Given the description of an element on the screen output the (x, y) to click on. 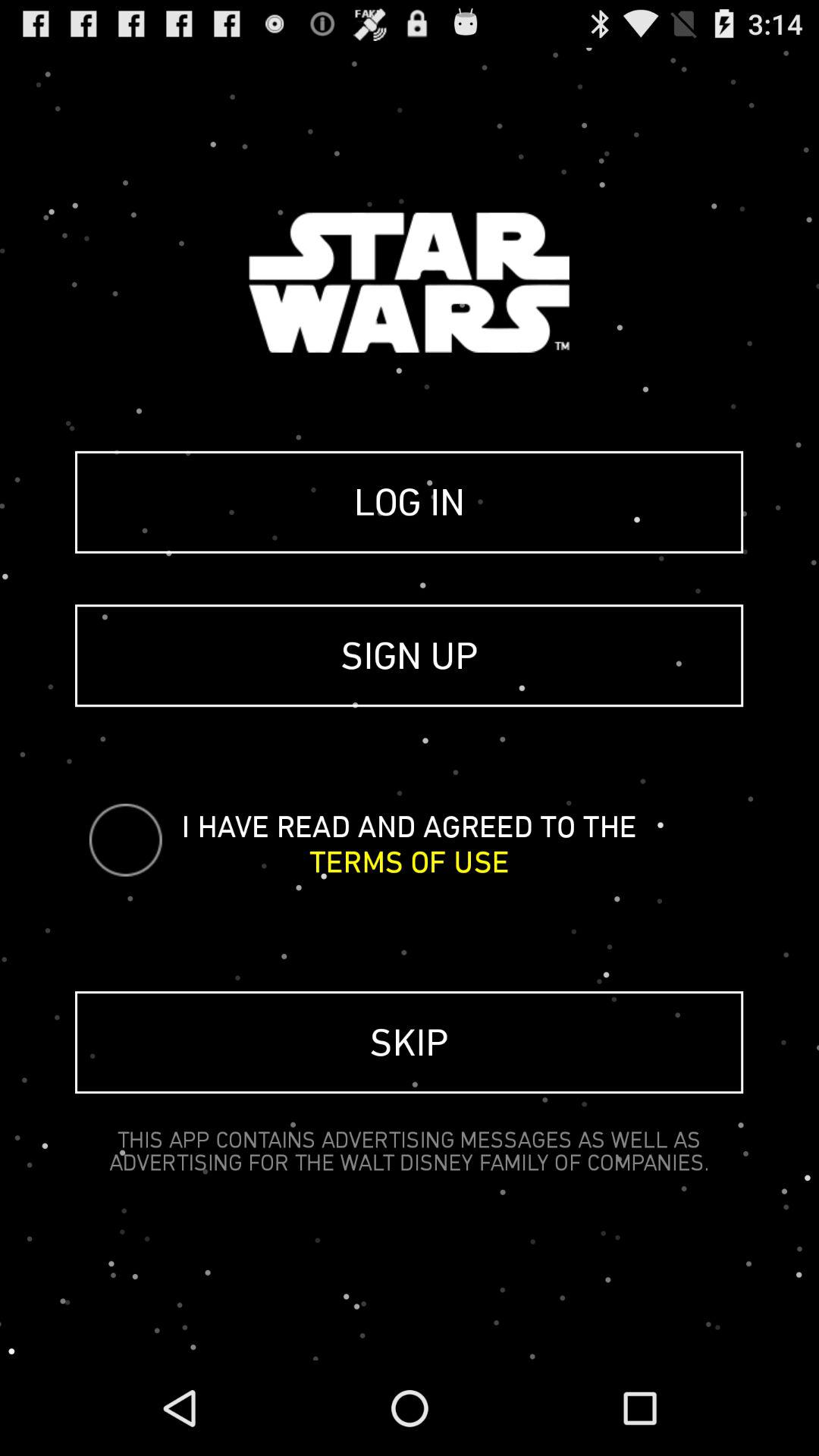
swipe to the skip icon (409, 1042)
